Given the description of an element on the screen output the (x, y) to click on. 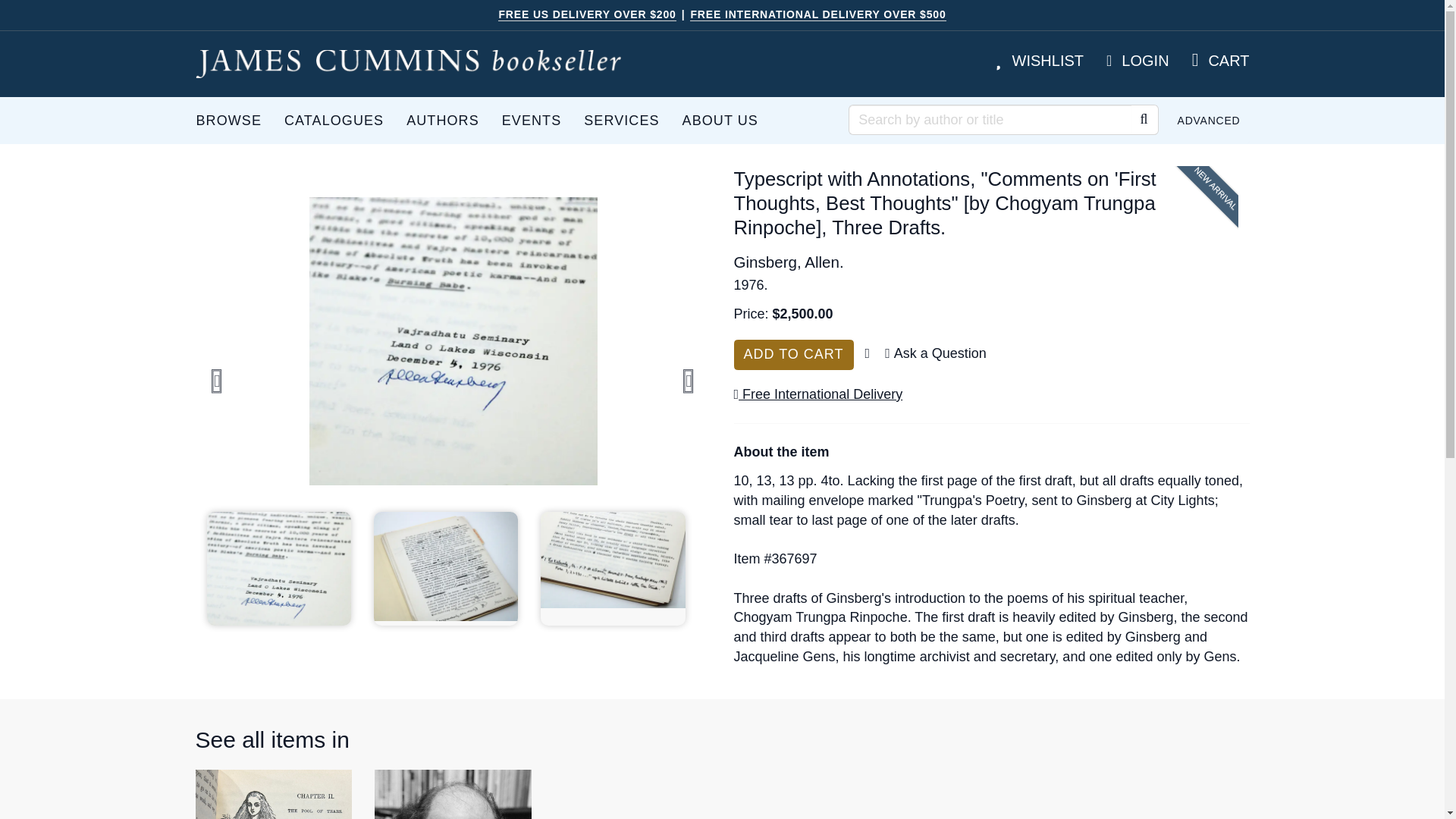
James Cummins Bookseller (408, 63)
